Given the description of an element on the screen output the (x, y) to click on. 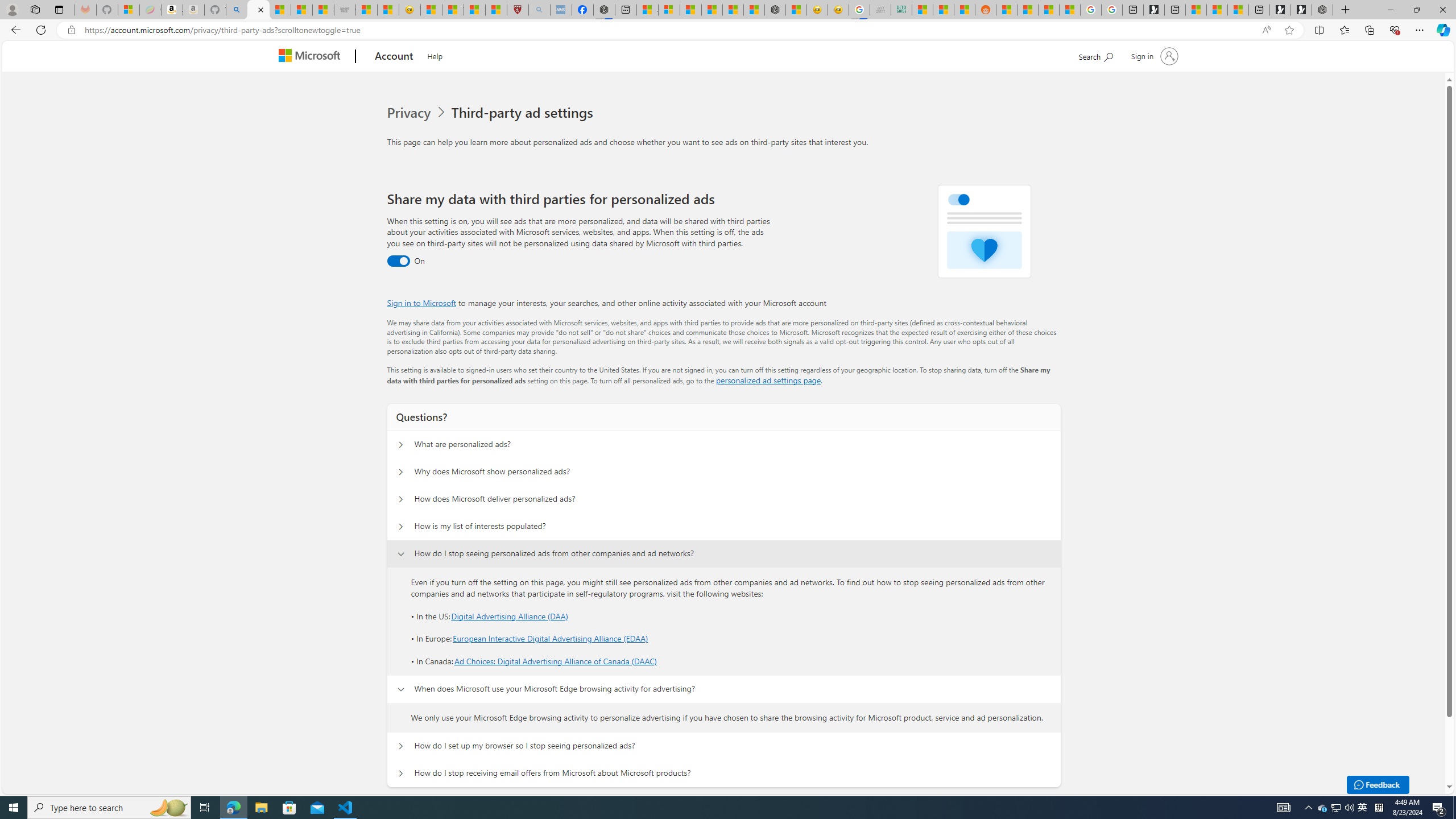
Help (434, 54)
personalized ad settings page (767, 379)
Account (394, 56)
Third party data sharing toggle (398, 260)
Third-party ad settings (523, 112)
